Given the description of an element on the screen output the (x, y) to click on. 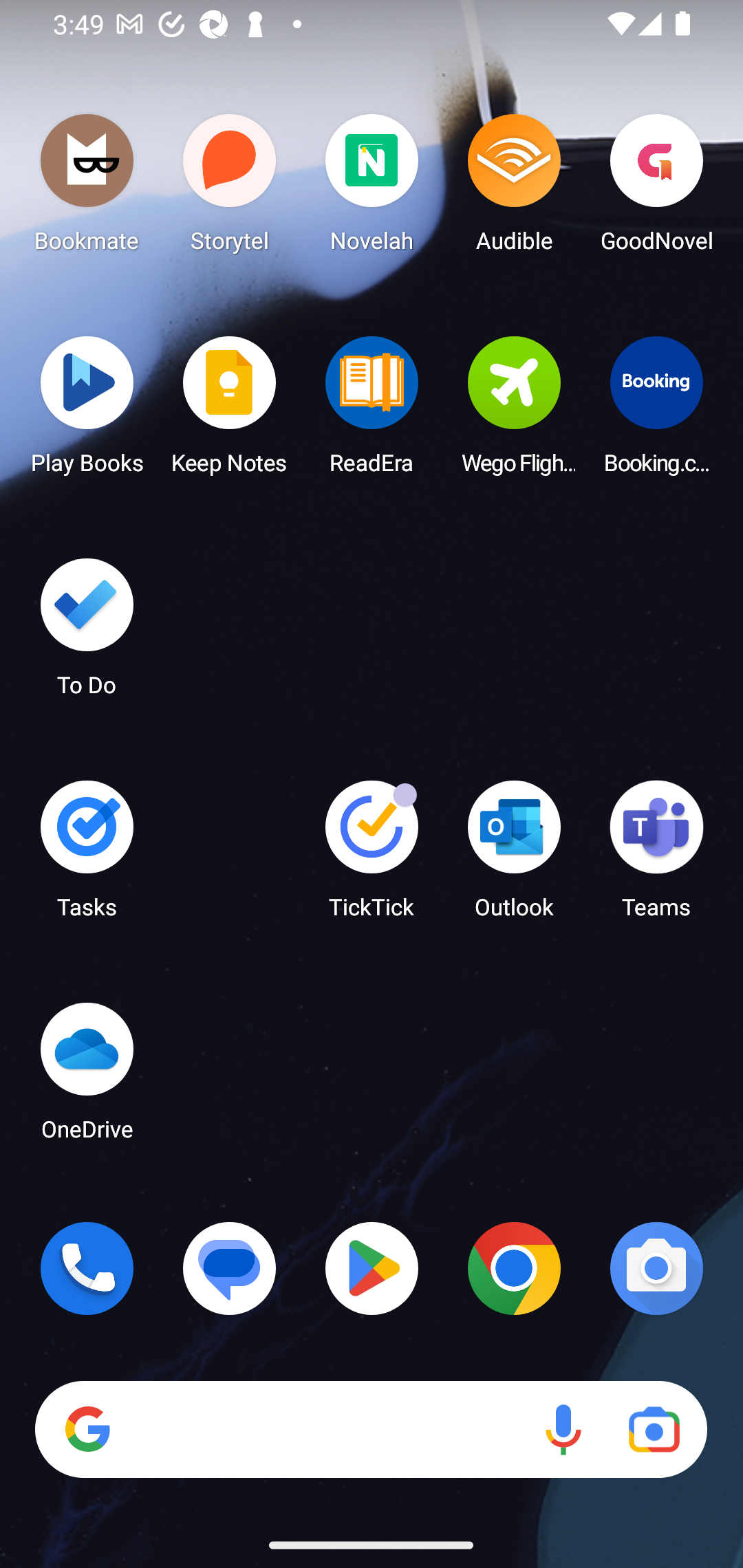
Bookmate (86, 188)
Storytel (229, 188)
Novelah (371, 188)
Audible (513, 188)
GoodNovel (656, 188)
Play Books (86, 410)
Keep Notes (229, 410)
ReadEra (371, 410)
Wego Flights & Hotels (513, 410)
Booking.com (656, 410)
To Do (86, 633)
Tasks (86, 854)
TickTick TickTick has 3 notifications (371, 854)
Outlook (513, 854)
Teams (656, 854)
OneDrive (86, 1076)
Phone (86, 1268)
Messages (229, 1268)
Play Store (371, 1268)
Chrome (513, 1268)
Camera (656, 1268)
Search Voice search Google Lens (370, 1429)
Voice search (562, 1429)
Google Lens (653, 1429)
